Given the description of an element on the screen output the (x, y) to click on. 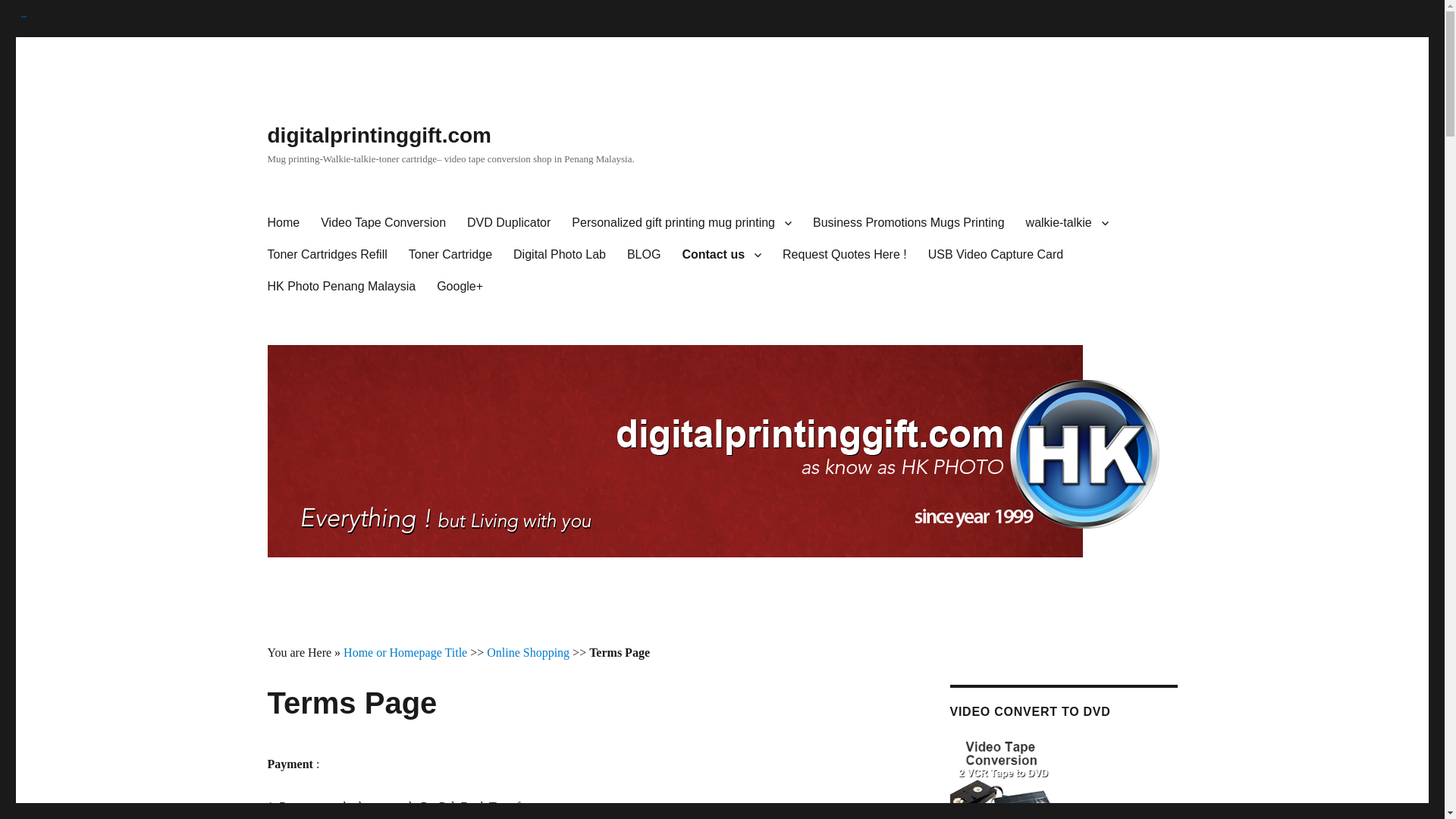
Toner Cartridges Refill (326, 255)
contact us (721, 255)
Google (17, 10)
Business Promotions Mugs Printing (908, 223)
Personalized gift printing mug printing (681, 223)
Online Shopping (527, 652)
walkie-talkie (1066, 223)
Toner Cartridge (449, 255)
Home (283, 223)
Your One Stop Experts Personalized Gift Printing Shop (681, 223)
Request Quotes Here ! (844, 255)
Digital Photo Lab (558, 255)
Video Tape Conversion (383, 223)
digitalprintinggift.com (379, 135)
video tape conversion experts penang malaysia (383, 223)
